Given the description of an element on the screen output the (x, y) to click on. 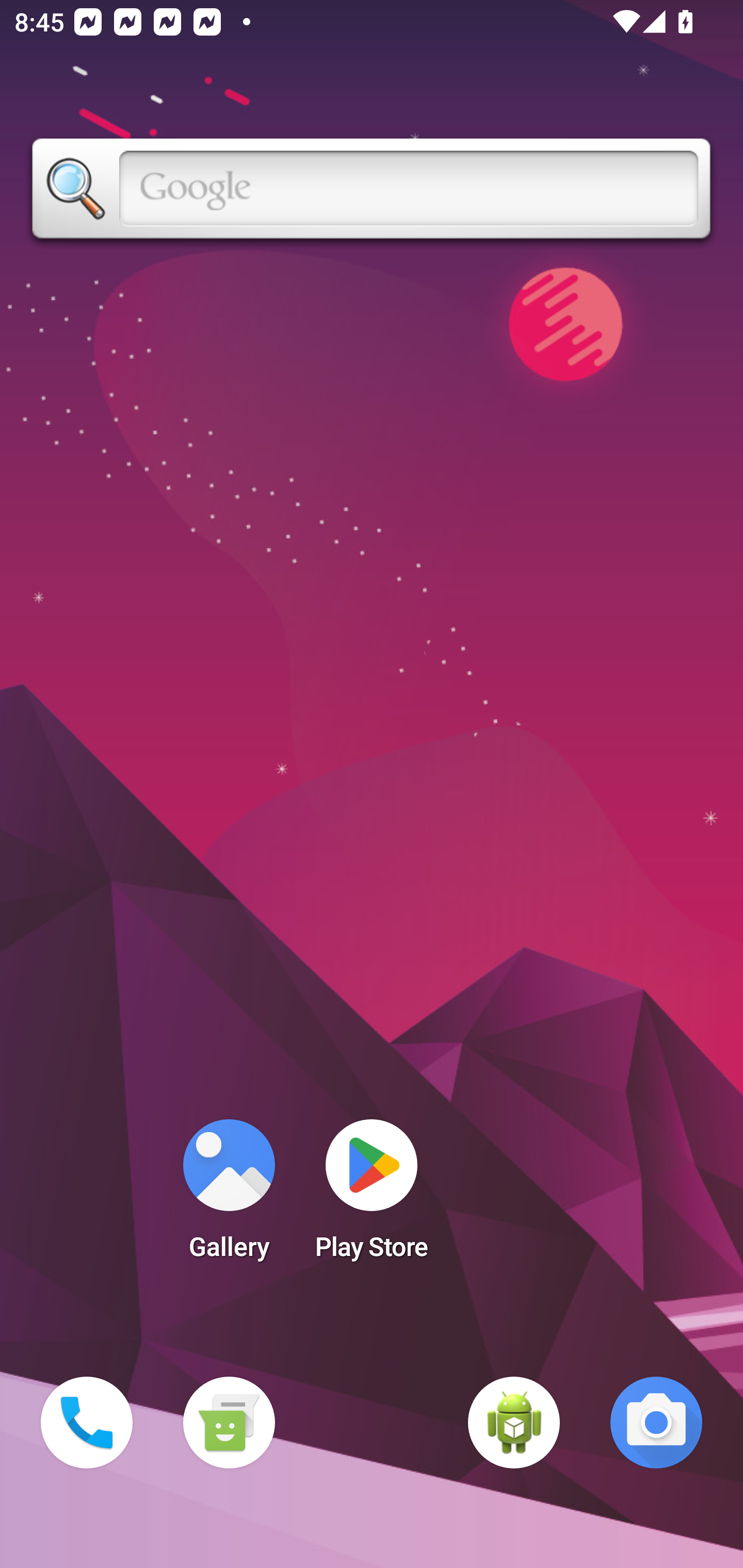
Gallery (228, 1195)
Play Store (371, 1195)
Phone (86, 1422)
Messaging (228, 1422)
WebView Browser Tester (513, 1422)
Camera (656, 1422)
